Given the description of an element on the screen output the (x, y) to click on. 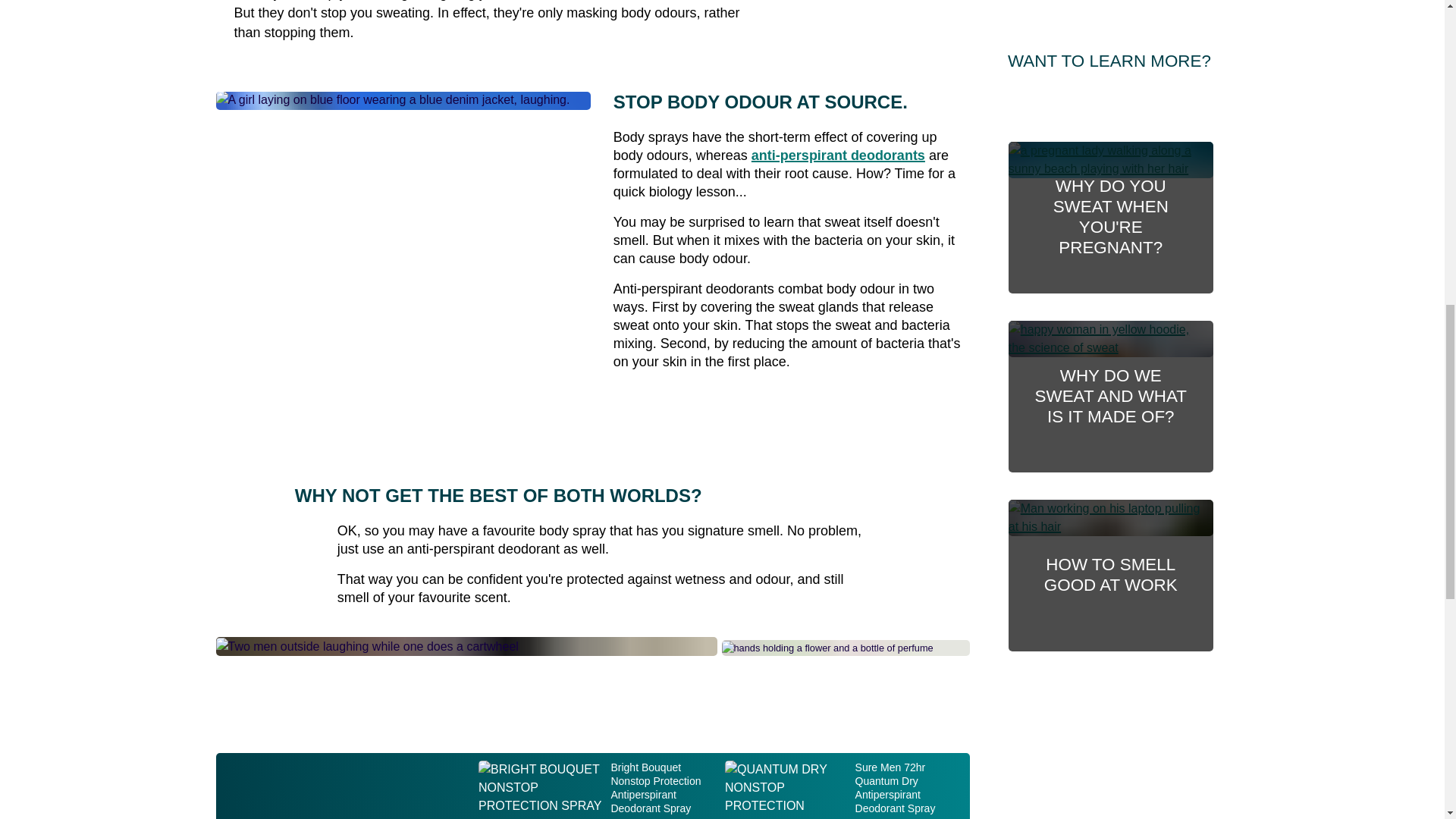
WHY DO WE SWEAT AND WHAT IS IT MADE OF? (1110, 13)
SHOP WOMEN (655, 82)
HOW TO SMELL GOOD AT WORK (837, 155)
SHOP MEN (1110, 186)
